Given the description of an element on the screen output the (x, y) to click on. 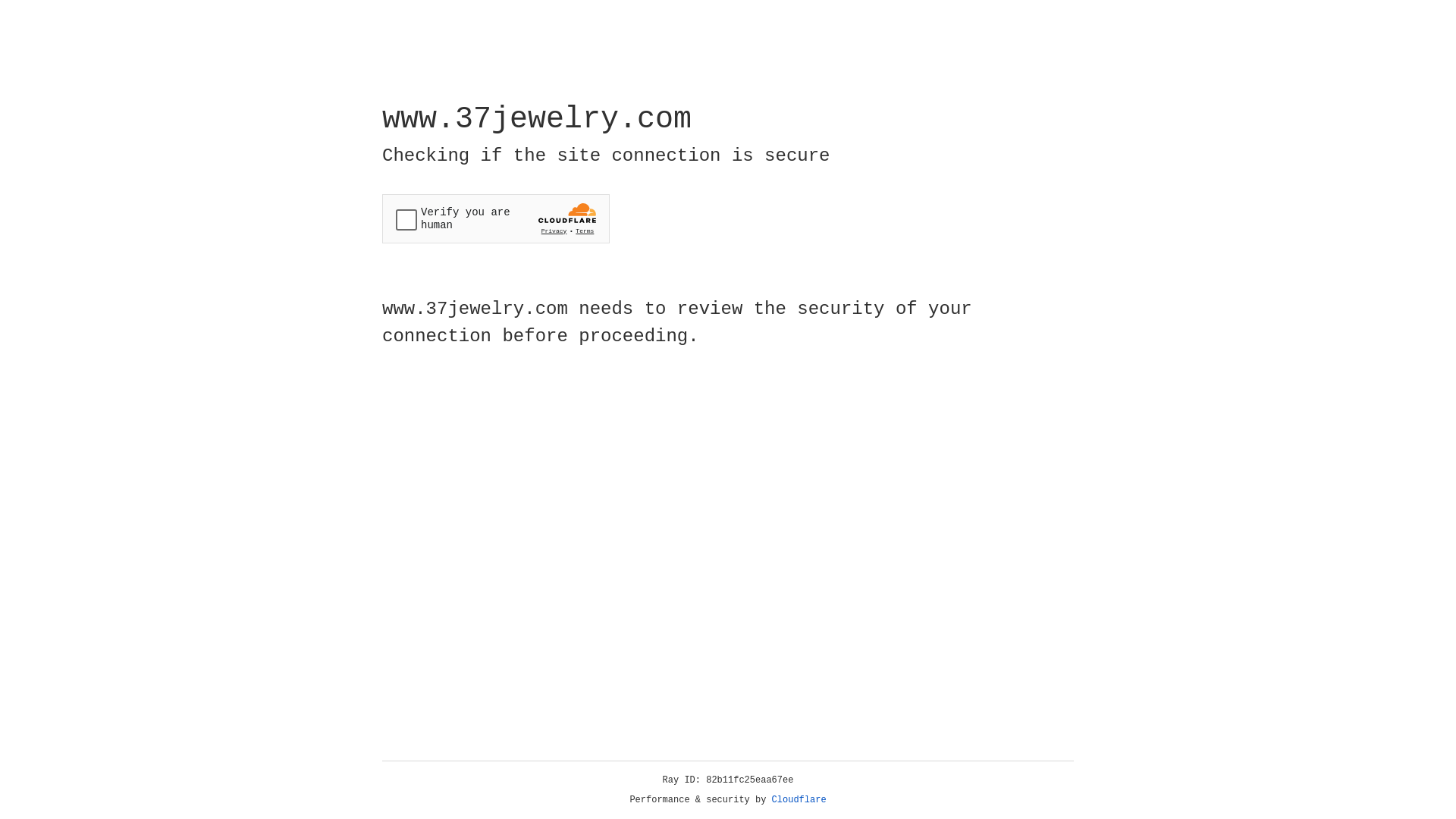
Widget containing a Cloudflare security challenge Element type: hover (495, 218)
Cloudflare Element type: text (798, 799)
